Given the description of an element on the screen output the (x, y) to click on. 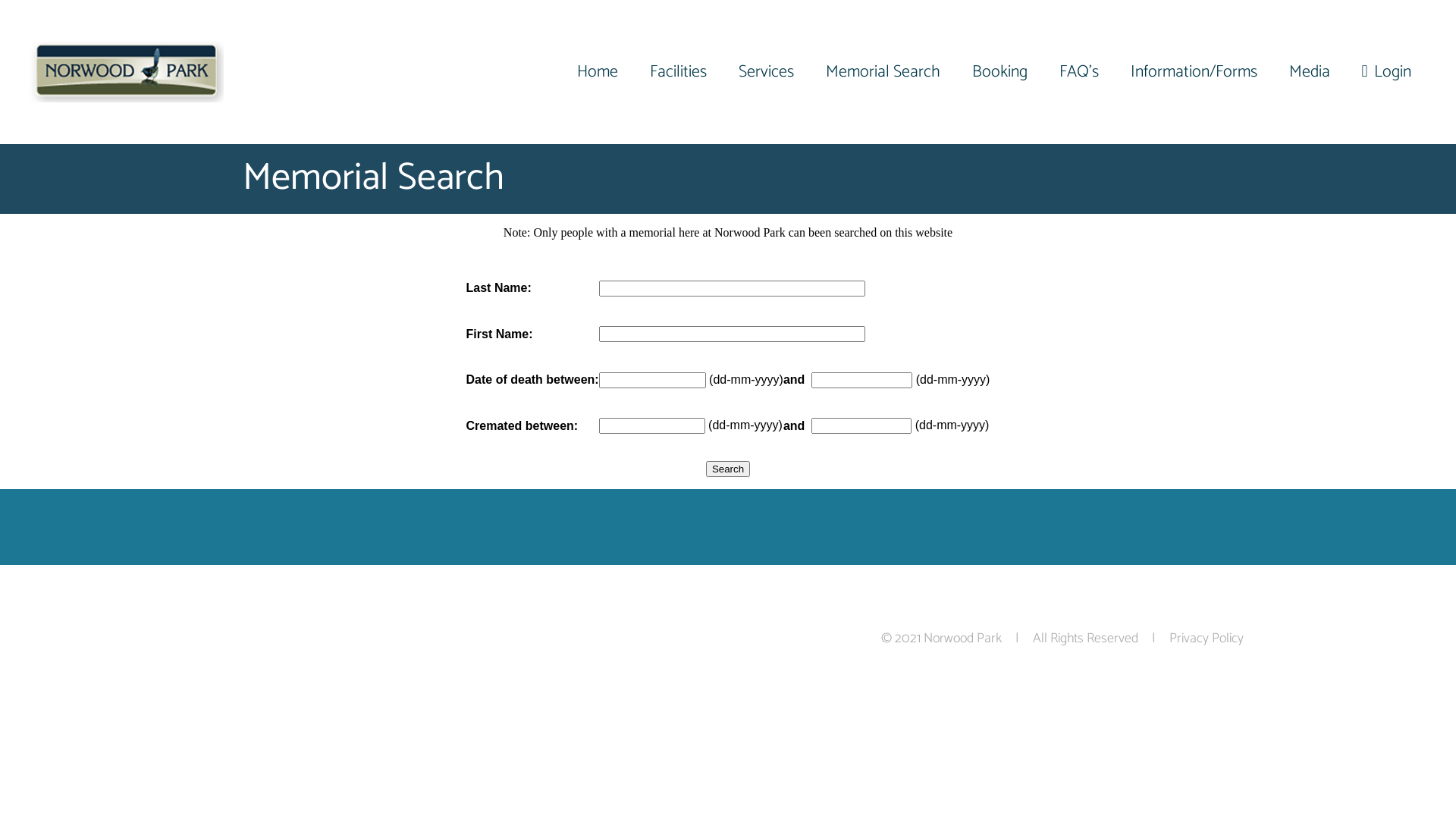
Services Element type: text (765, 71)
FAQ's Element type: text (1078, 71)
Home Element type: text (597, 71)
Information/Forms Element type: text (1193, 71)
Facilities Element type: text (678, 71)
Login Element type: text (1386, 71)
Booking Element type: text (999, 71)
Search Element type: text (727, 468)
Memorial Search Element type: text (882, 71)
Media Element type: text (1309, 71)
